Given the description of an element on the screen output the (x, y) to click on. 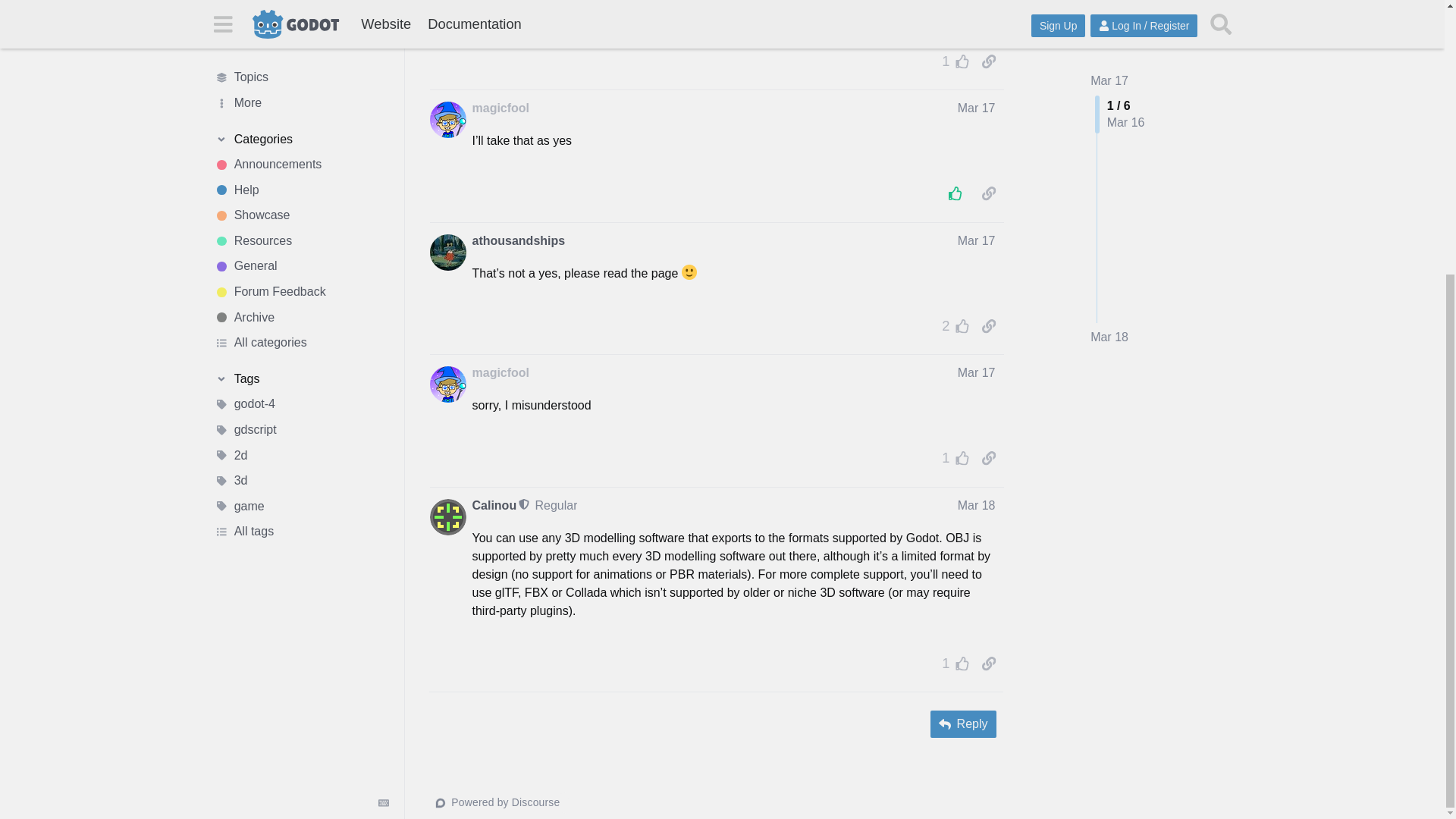
3d (301, 77)
godot-4 (301, 7)
All tags (301, 128)
2d (301, 52)
game (301, 103)
gdscript (301, 26)
